Given the description of an element on the screen output the (x, y) to click on. 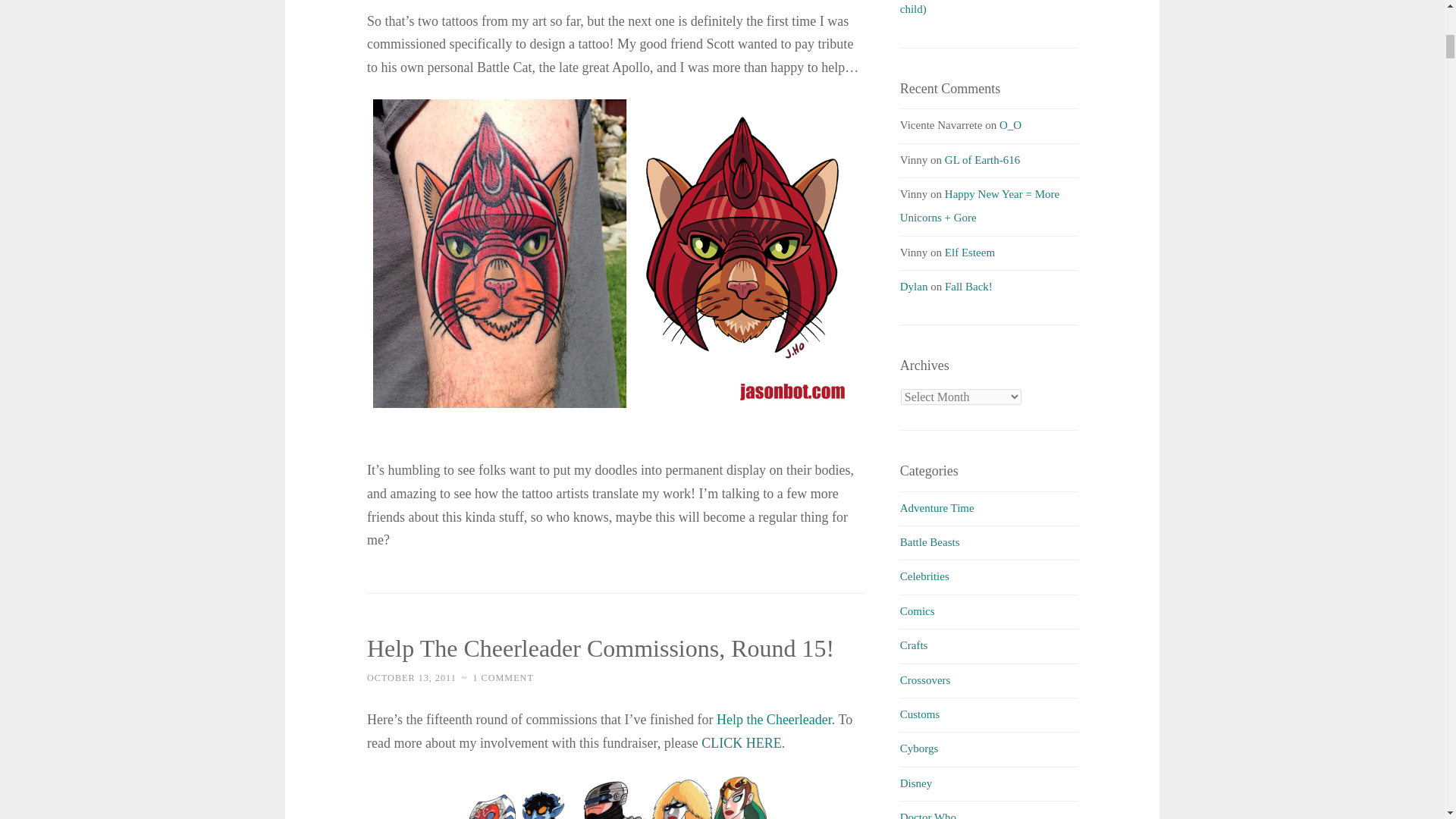
CLICK HERE (741, 743)
Help the Cheerleader (773, 719)
1 COMMENT (501, 677)
OCTOBER 13, 2011 (411, 677)
Help The Cheerleader Commissions, Round 15! (600, 647)
